Given the description of an element on the screen output the (x, y) to click on. 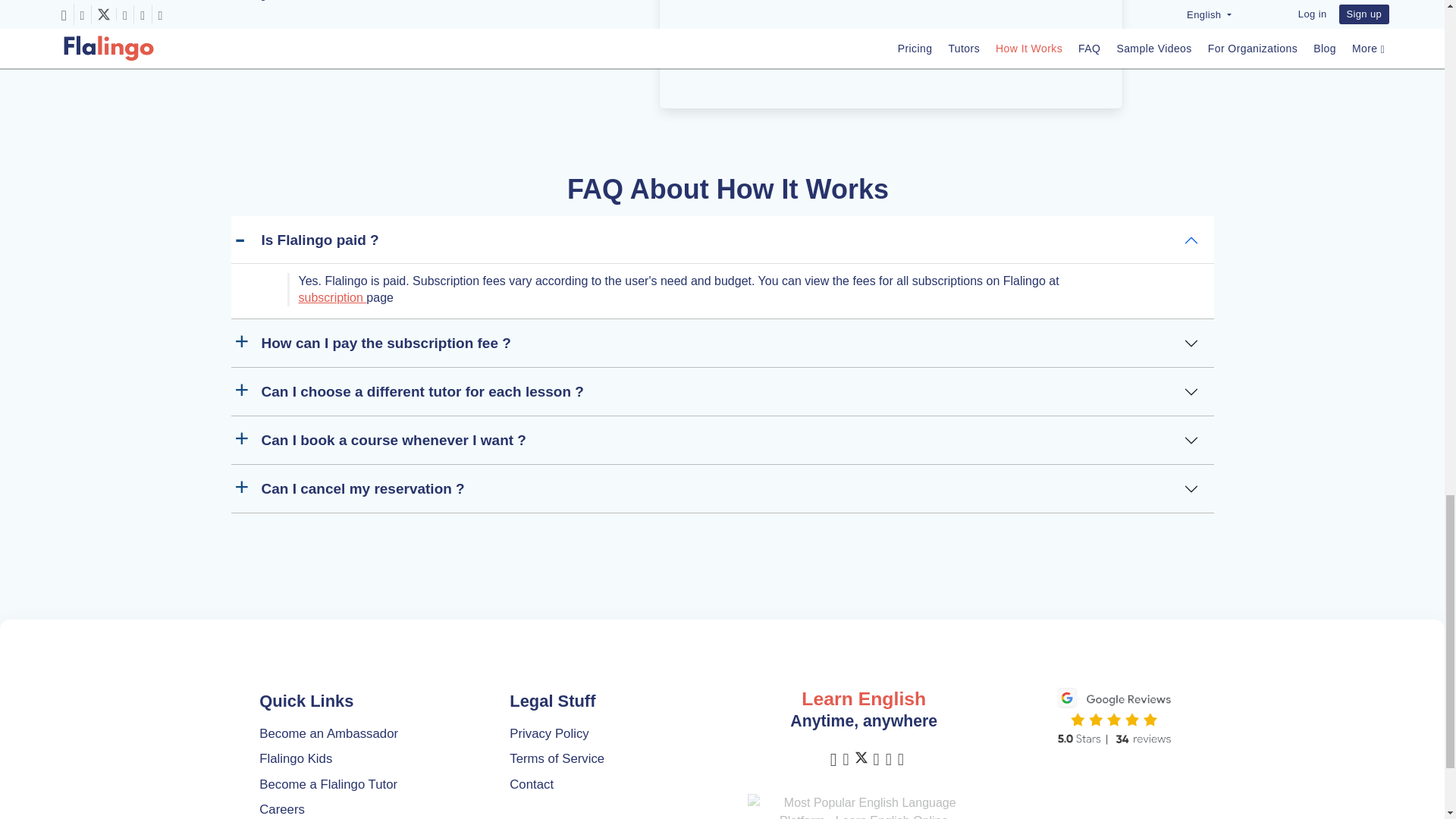
Become an Ambassador (328, 733)
Flalingo Kids (295, 758)
Can I choose a different tutor for each lesson ? (721, 391)
subscription (332, 297)
Can I book a course whenever I want ? (721, 440)
Is Flalingo paid ? (721, 239)
Can I cancel my reservation ? (721, 488)
How can I pay the subscription fee ? (721, 342)
